Given the description of an element on the screen output the (x, y) to click on. 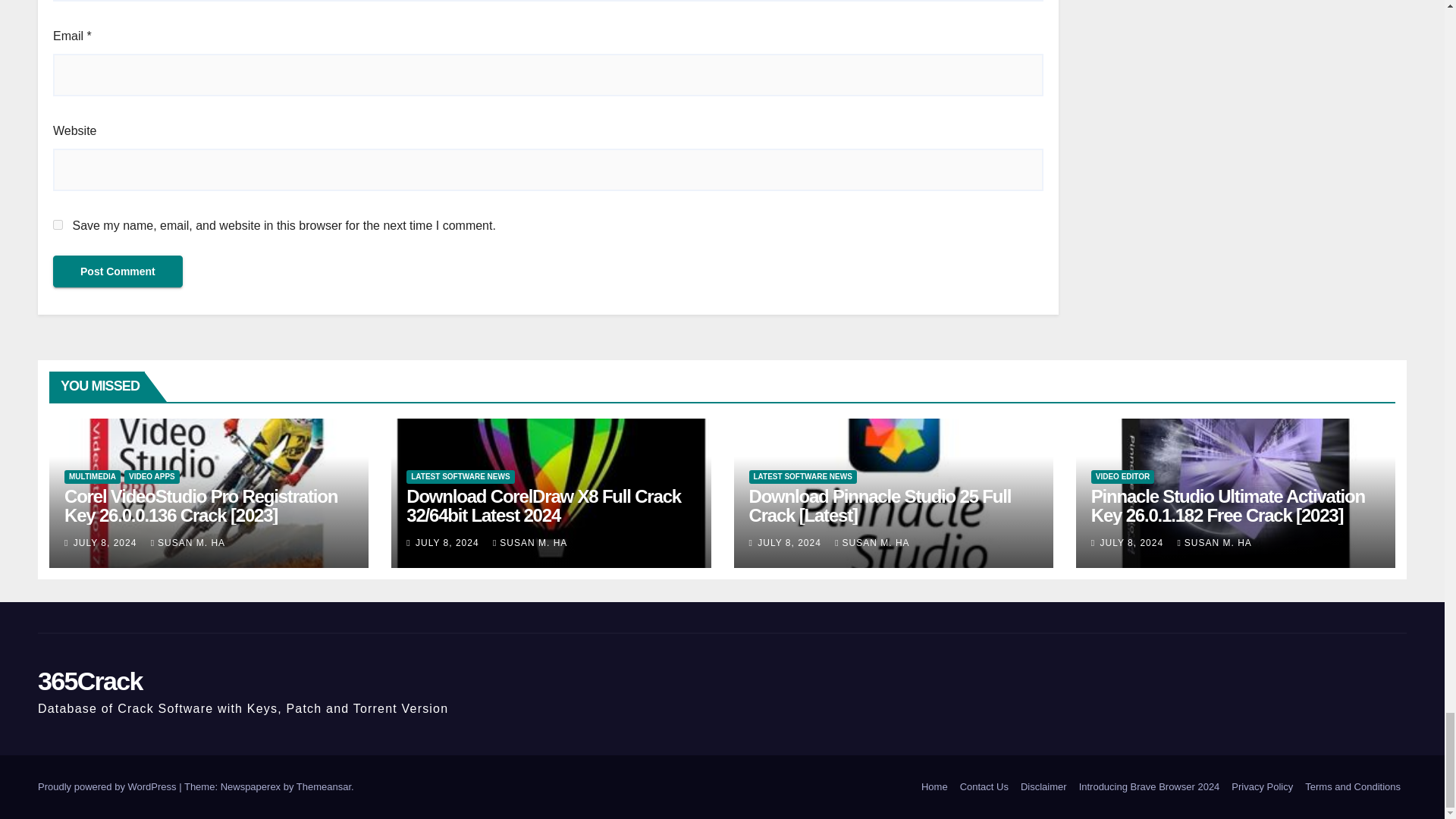
Post Comment (117, 271)
yes (57, 225)
